Given the description of an element on the screen output the (x, y) to click on. 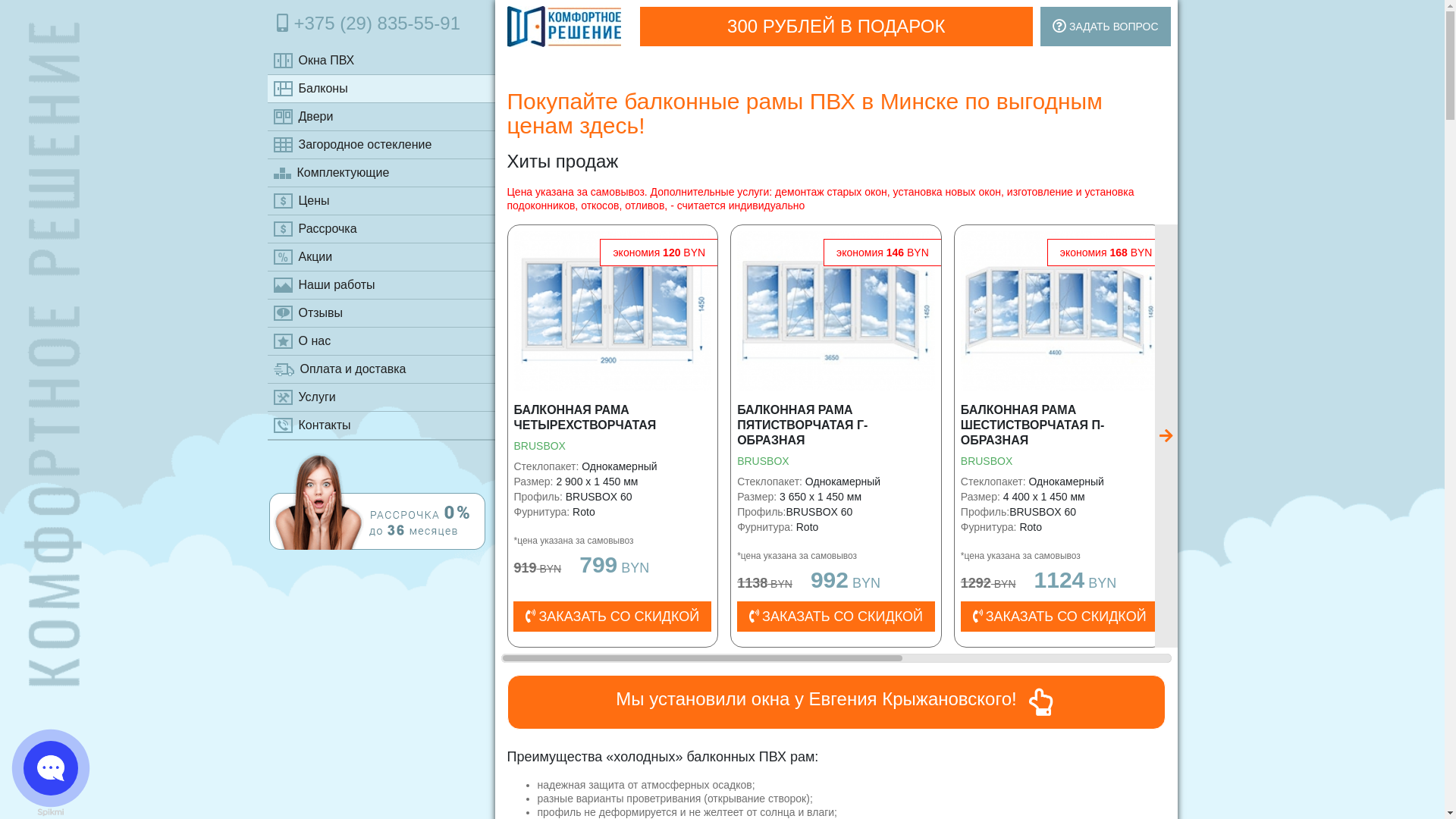
+375 (29) 835-55-91 Element type: text (380, 23)
